Given the description of an element on the screen output the (x, y) to click on. 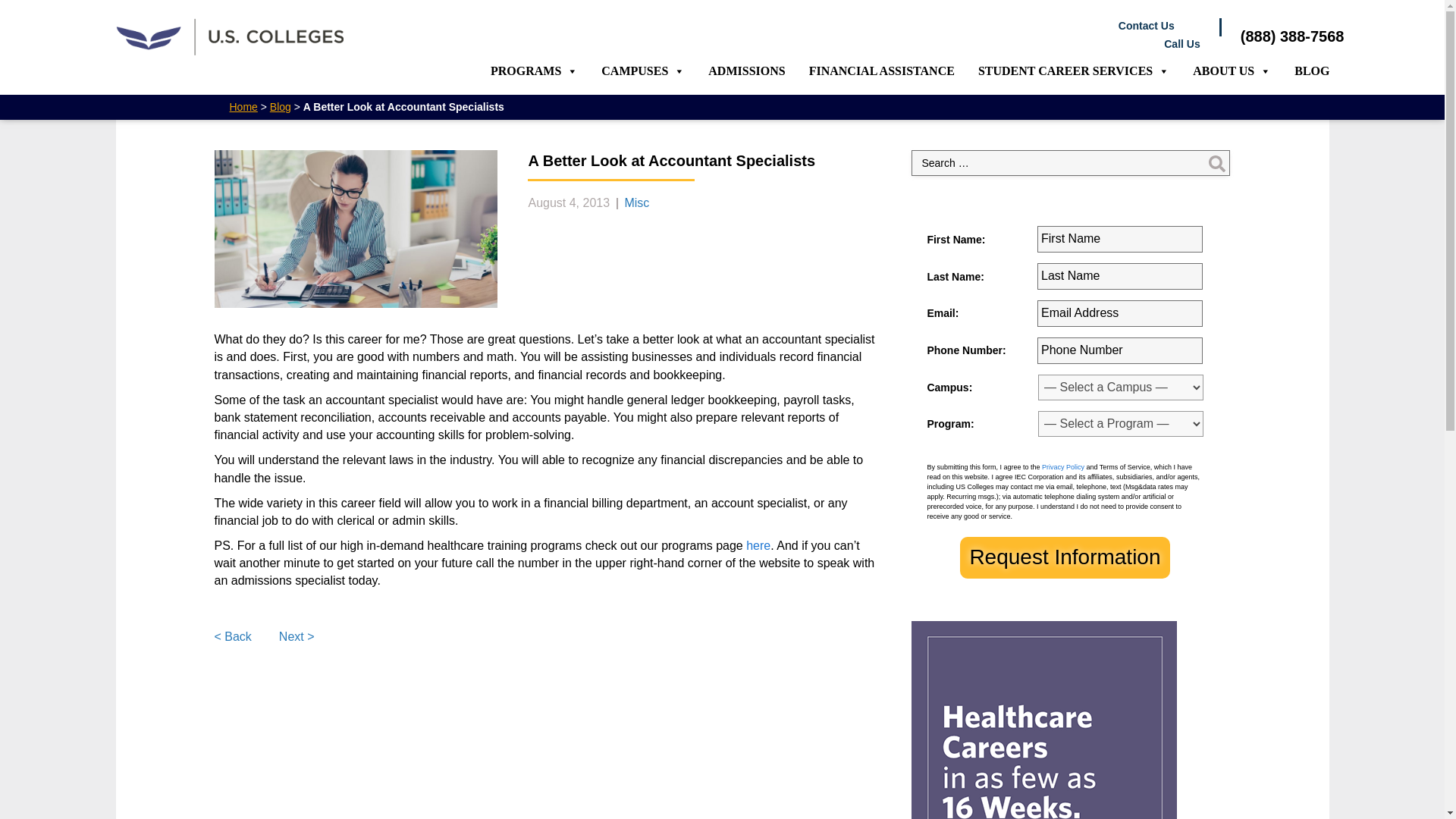
BLOG (1311, 71)
U.S. Colleges (228, 36)
ADMISSIONS (745, 71)
uscmed-blog-archive-banner (1043, 719)
CAMPUSES (642, 71)
STUDENT CAREER SERVICES (1073, 71)
Type and press Enter to search. (1070, 162)
A Better Look at Accountant Specialists (355, 228)
Request Information (1064, 557)
ABOUT US (1231, 71)
Call Us (801, 43)
PROGRAMS (533, 71)
FINANCIAL ASSISTANCE (881, 71)
Contact Us (789, 25)
